Given the description of an element on the screen output the (x, y) to click on. 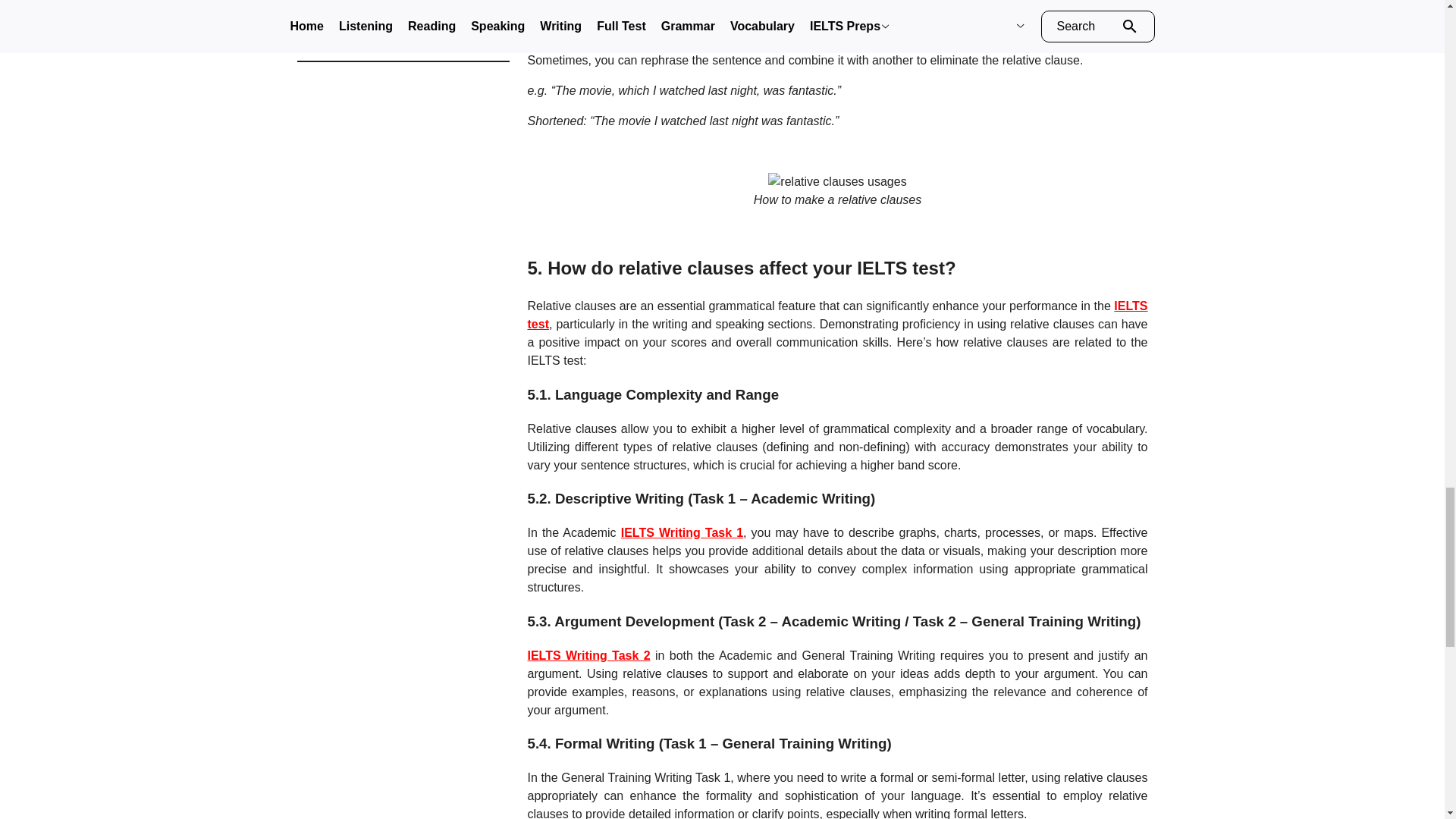
IELTS Writing Task 1 (681, 532)
IELTS Writing Task 2 (588, 655)
IELTS test (837, 314)
